Given the description of an element on the screen output the (x, y) to click on. 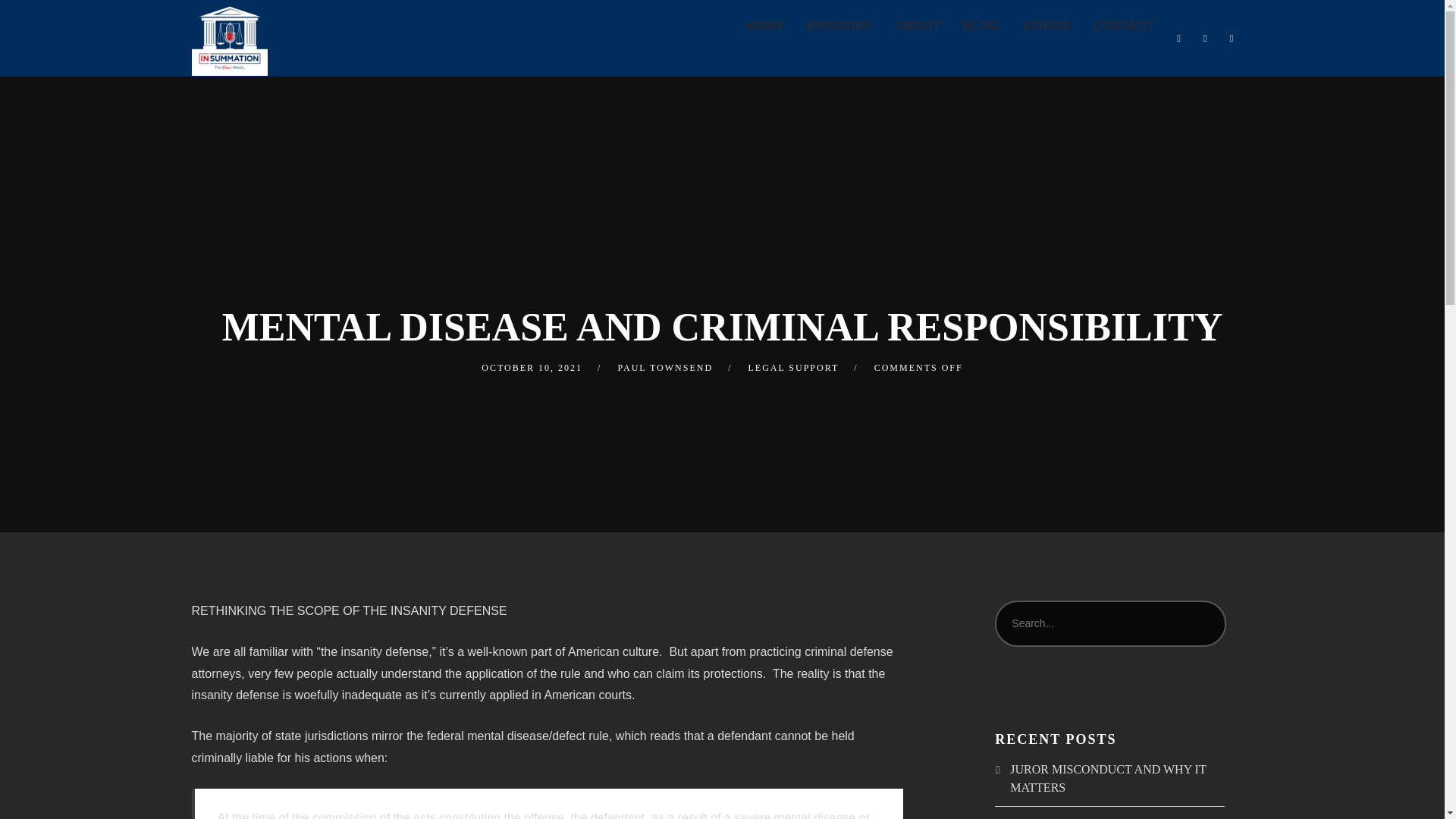
JUROR MISCONDUCT AND WHY IT MATTERS (1107, 777)
BLOG (981, 26)
ABOUT (917, 26)
LEGAL SUPPORT (793, 367)
In Summation (228, 38)
PAUL TOWNSEND (665, 367)
VIDEOS (1045, 26)
HOME (765, 26)
CONTACT (1123, 26)
